Given the description of an element on the screen output the (x, y) to click on. 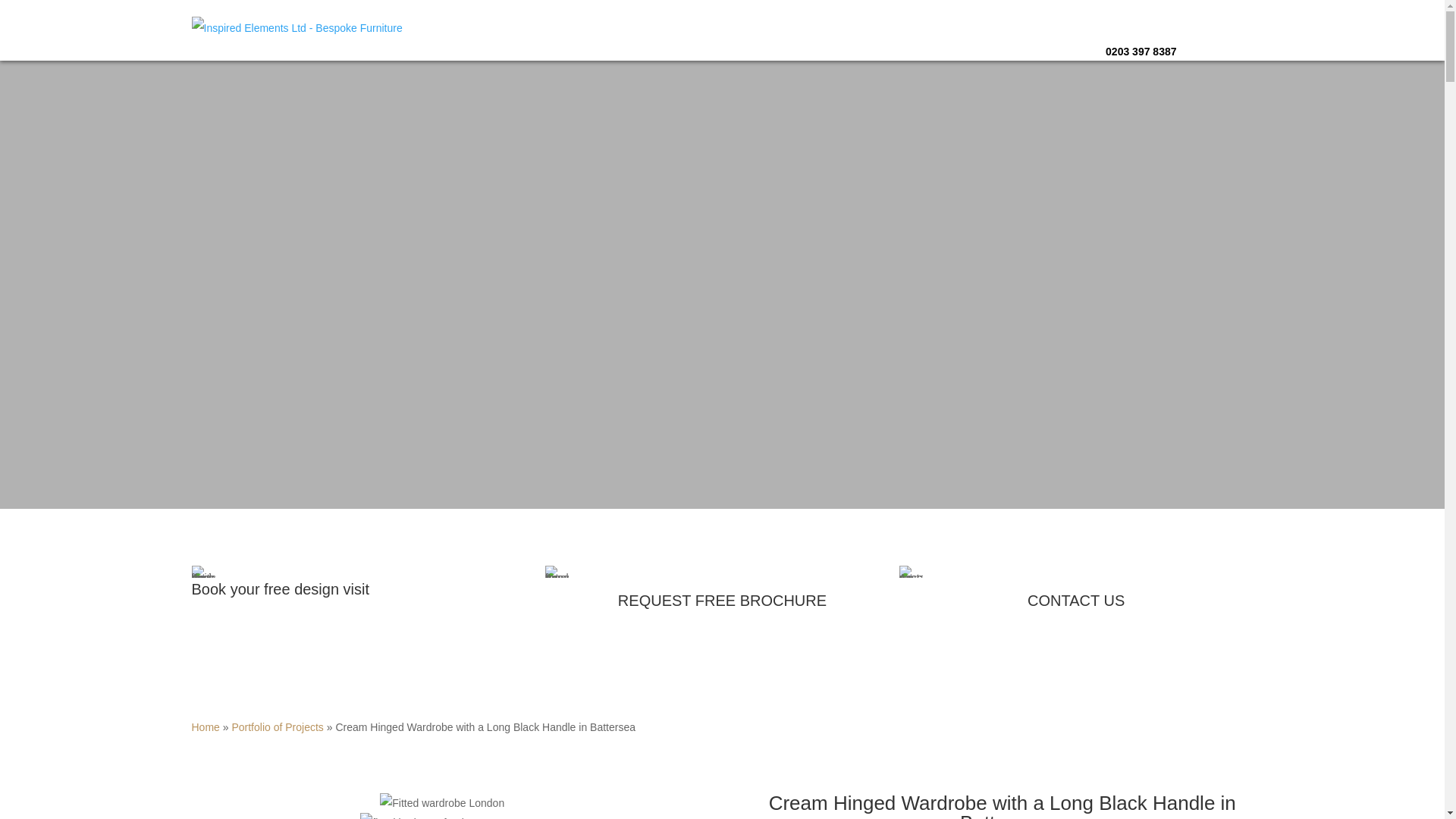
contact (911, 571)
Asset3 (202, 571)
Asset2 (556, 571)
